Given the description of an element on the screen output the (x, y) to click on. 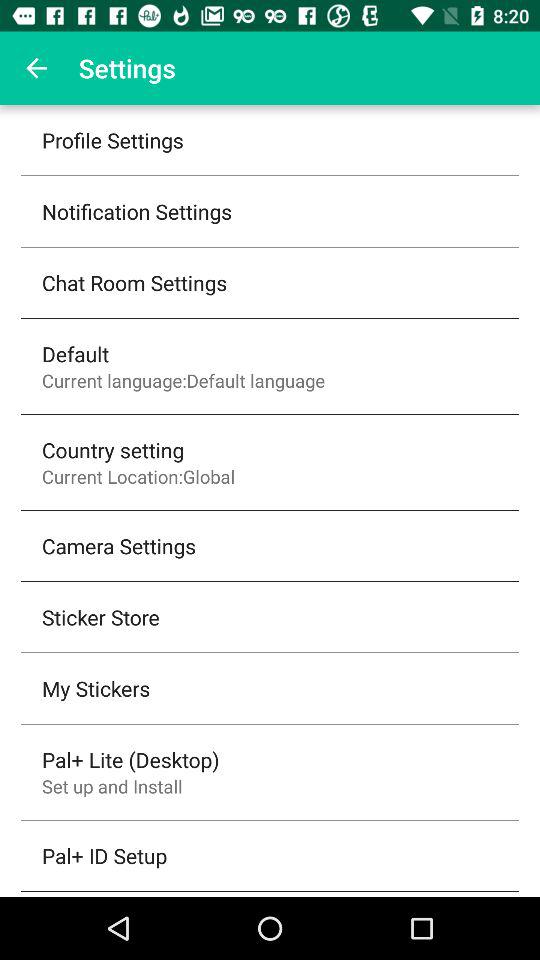
swipe to the pal+ id setup item (104, 855)
